Given the description of an element on the screen output the (x, y) to click on. 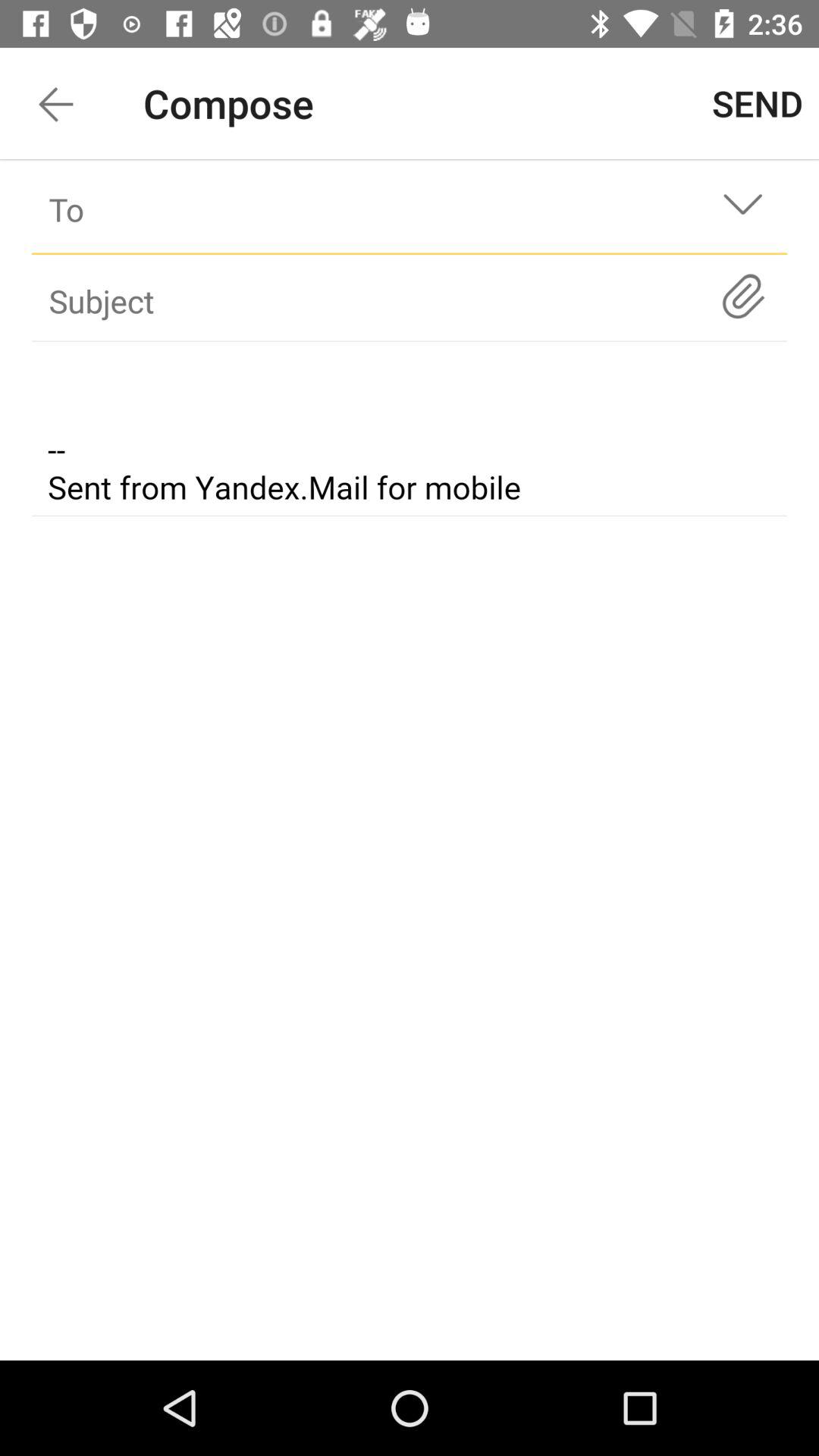
add key (743, 296)
